Given the description of an element on the screen output the (x, y) to click on. 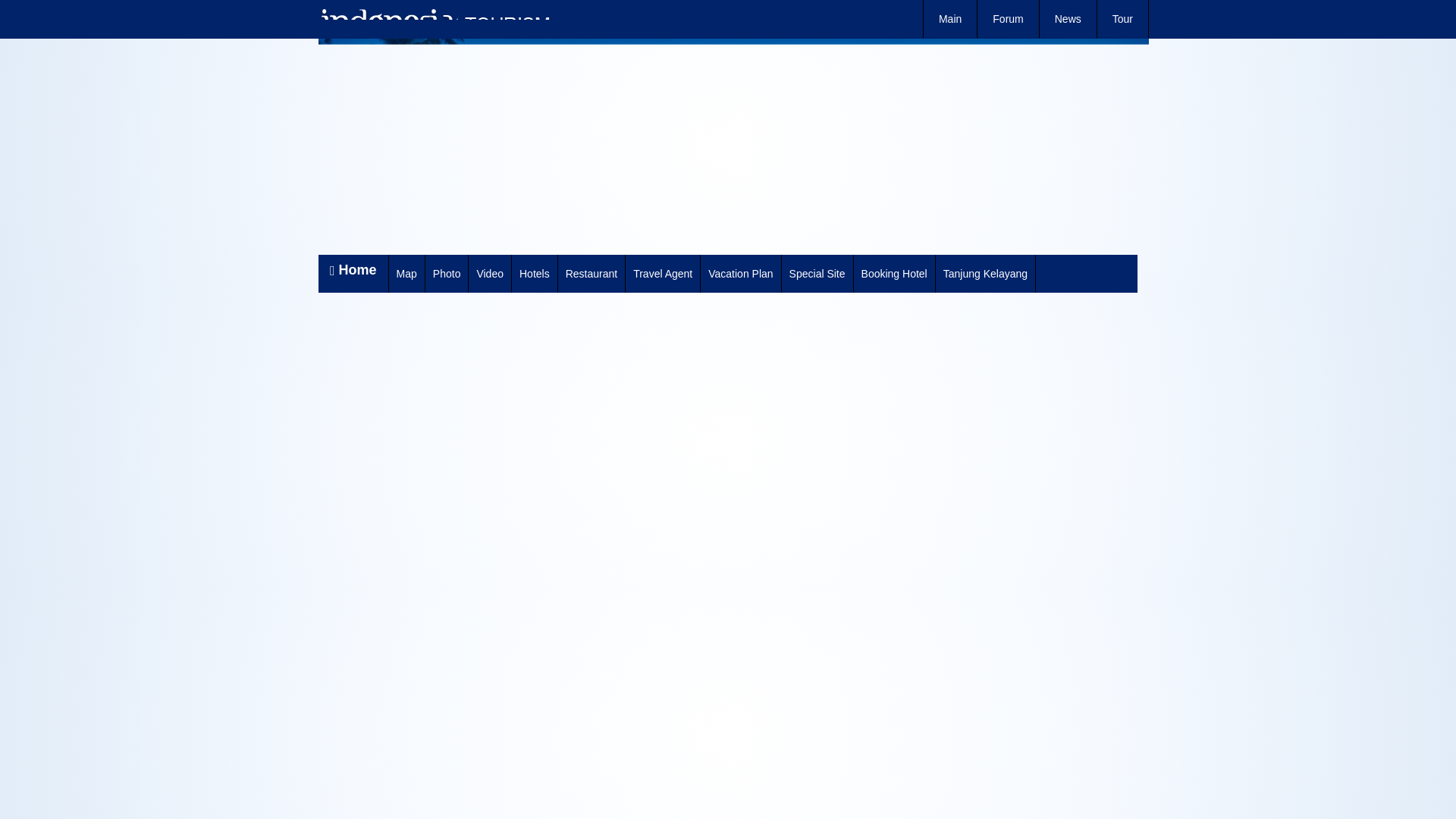
Restaurant (590, 273)
Main (949, 18)
Video (489, 273)
Forum (1007, 18)
News (1067, 18)
Vacation Plan (740, 273)
Tour (1122, 18)
Photo (446, 273)
Map (406, 273)
Booking Hotel (893, 273)
